Given the description of an element on the screen output the (x, y) to click on. 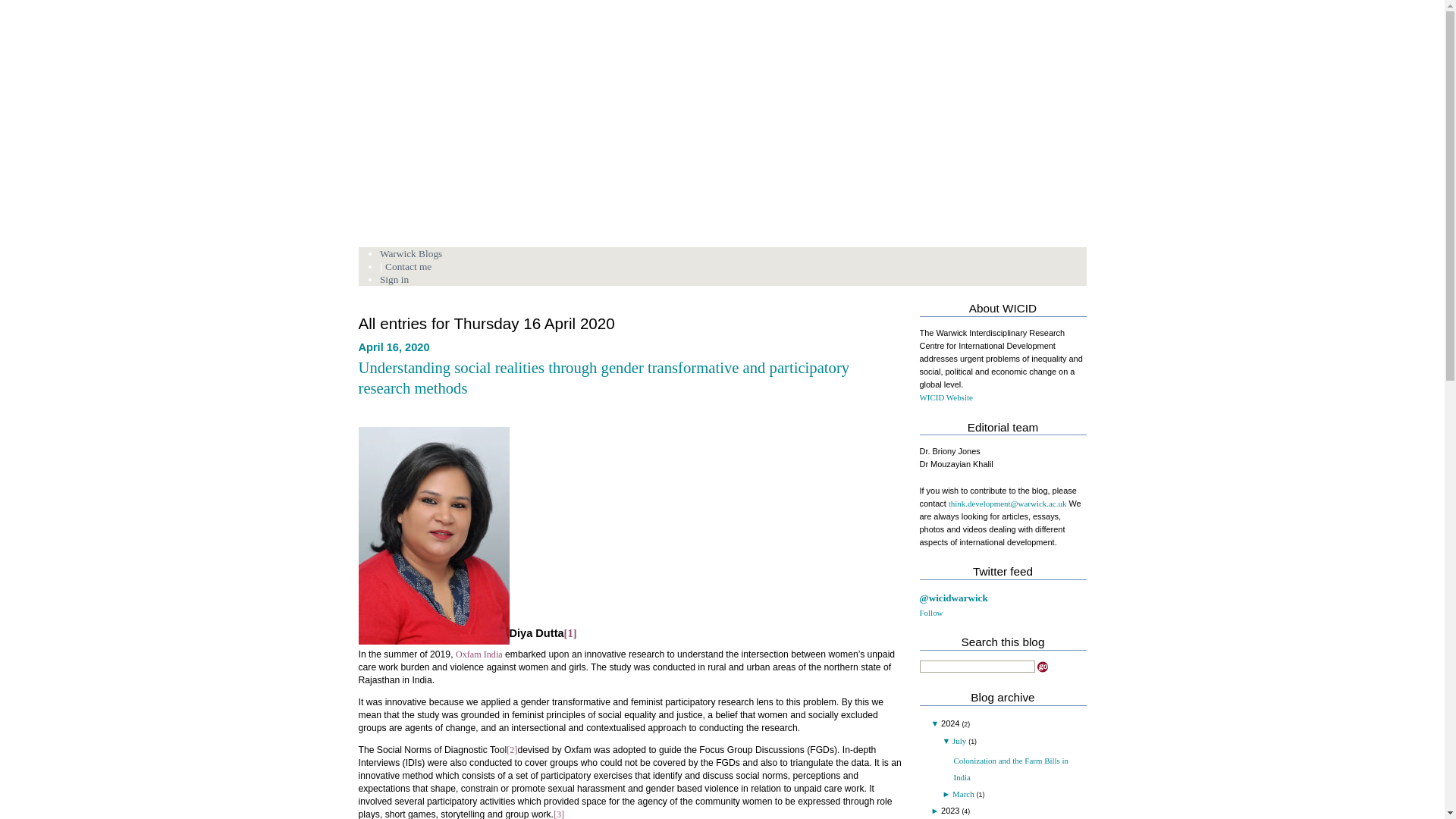
Warwick Blogs (411, 253)
July (959, 740)
WICID Website (945, 397)
Follow (930, 612)
Oxfam India (478, 654)
Contact me (407, 266)
View 1 entries for July 2024 (959, 740)
March (963, 793)
Sign in (394, 279)
Type a word or phrase, then click Go (975, 666)
Click to show entries for this month (947, 740)
Click to show entries by month (936, 723)
Colonization and the Farm Bills in India (1010, 768)
